Given the description of an element on the screen output the (x, y) to click on. 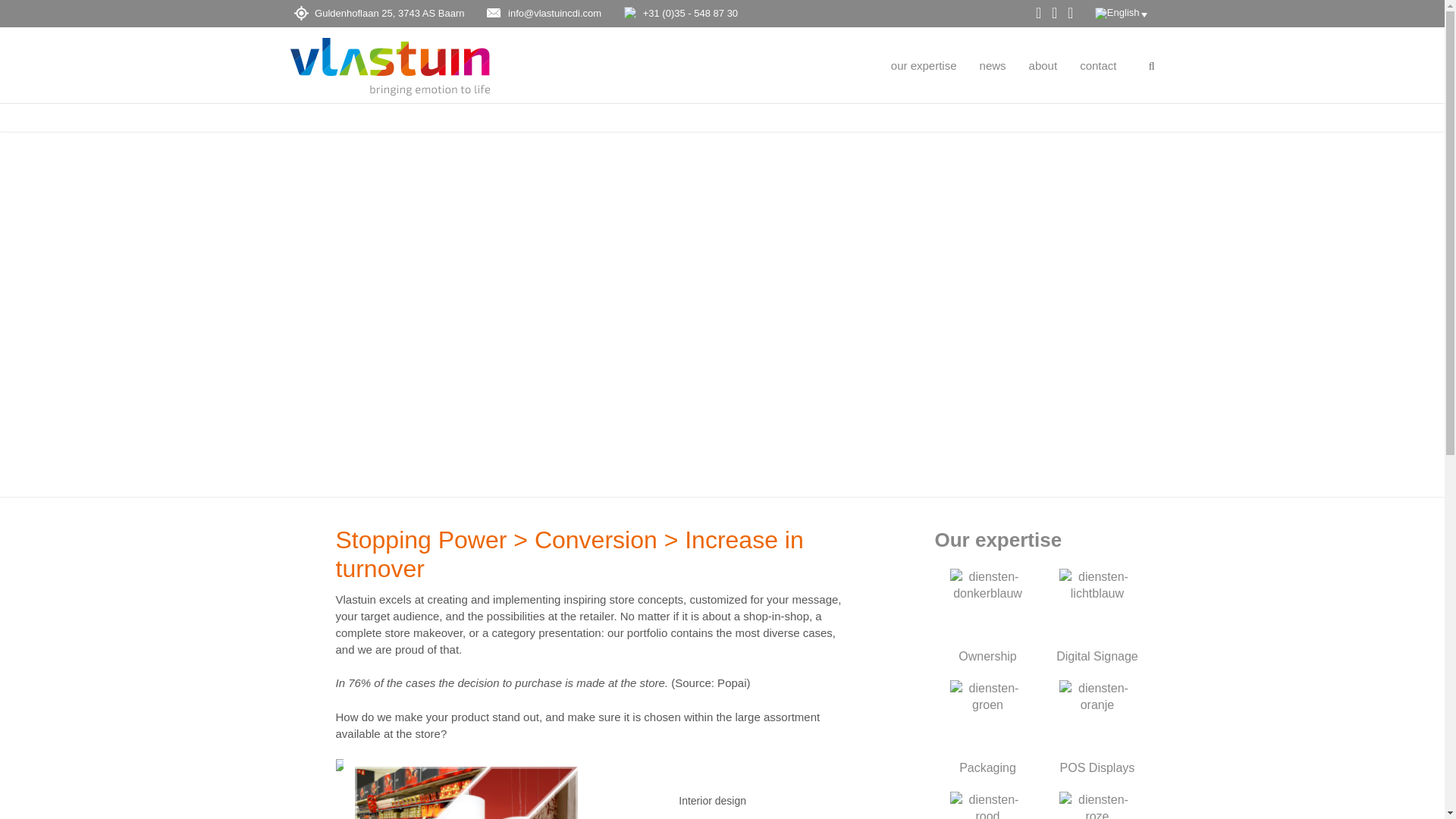
contact (1097, 65)
news (992, 65)
Packaging (987, 726)
our expertise (923, 65)
contact (1097, 65)
news (992, 65)
Digital Signage (1096, 615)
about (1042, 65)
our expertise (923, 65)
Stopping Power (987, 803)
about (1042, 65)
POS Displays (1096, 726)
Instore Solutions (1096, 803)
Guldenhoflaan 25, 3743 AS Baarn (376, 12)
Ownership (987, 615)
